Given the description of an element on the screen output the (x, y) to click on. 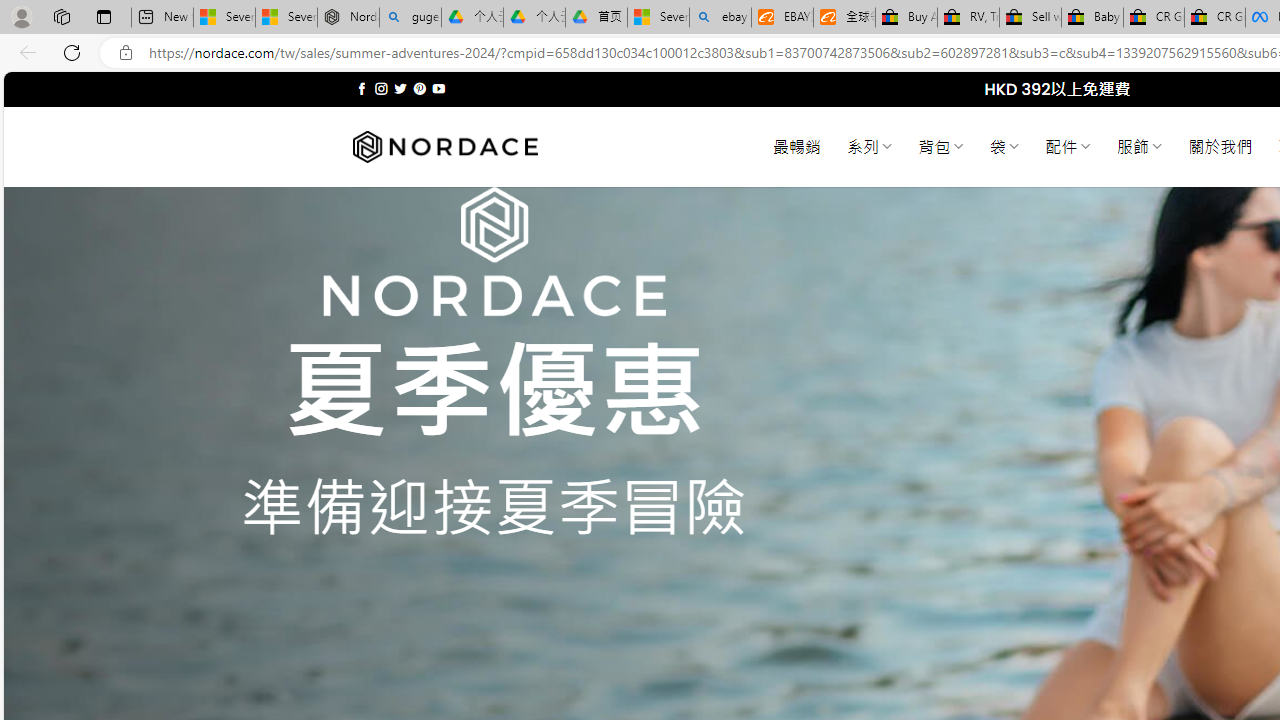
Baby Keepsakes & Announcements for sale | eBay (1092, 17)
Follow on Facebook (361, 88)
